Given the description of an element on the screen output the (x, y) to click on. 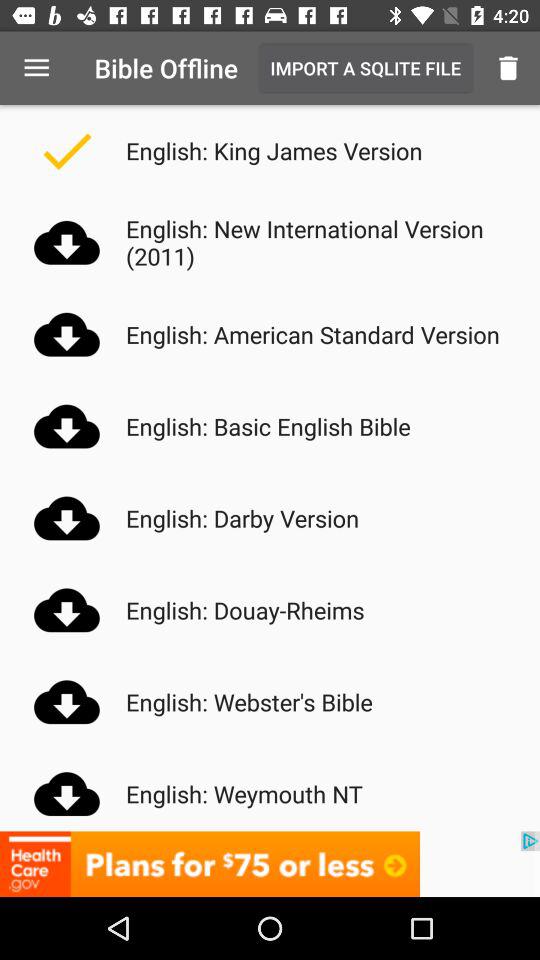
advertisement (270, 864)
